Given the description of an element on the screen output the (x, y) to click on. 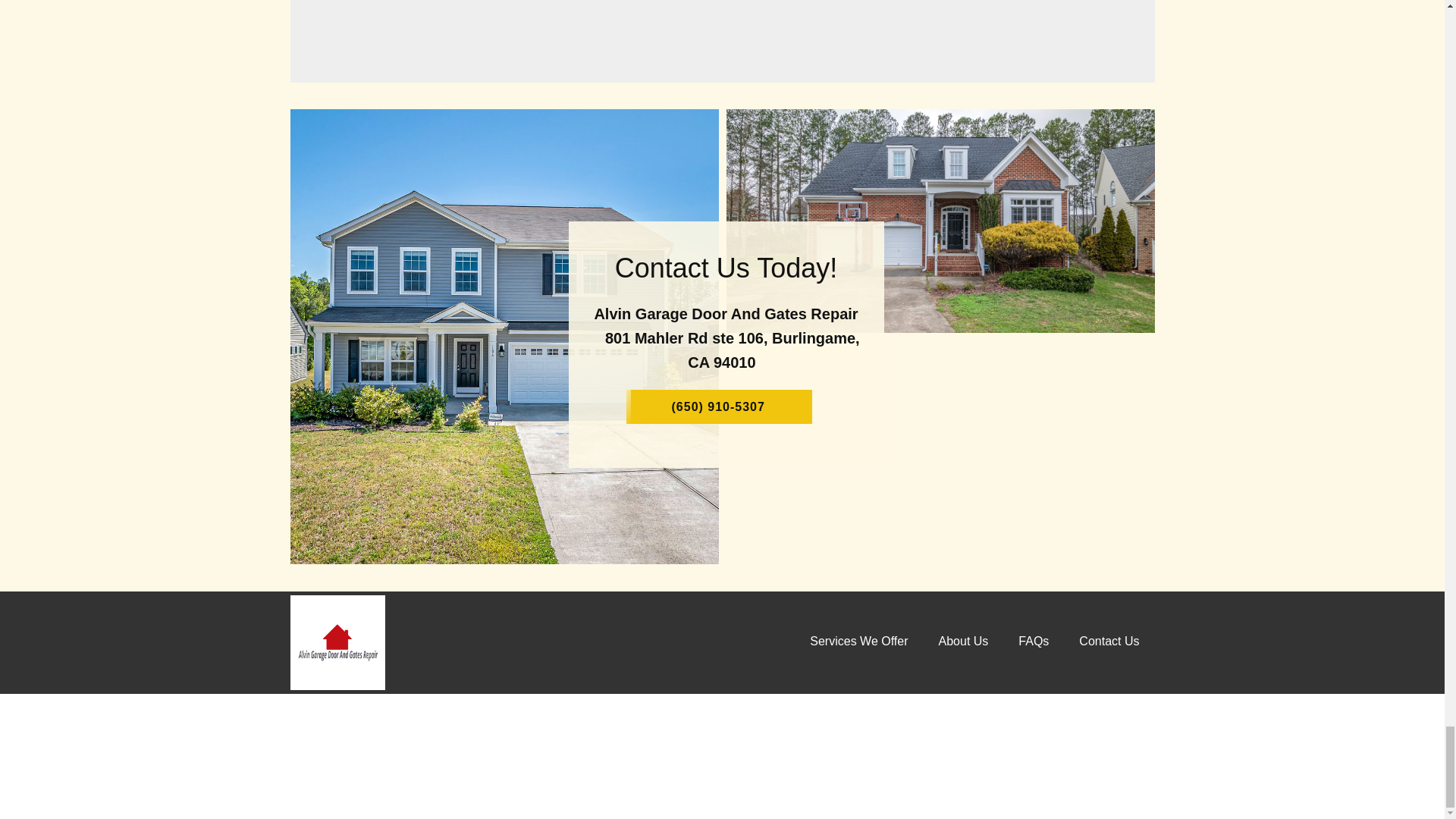
Services We Offer (858, 641)
About Us (963, 641)
FAQs (1033, 641)
Contact Us (1109, 641)
